Given the description of an element on the screen output the (x, y) to click on. 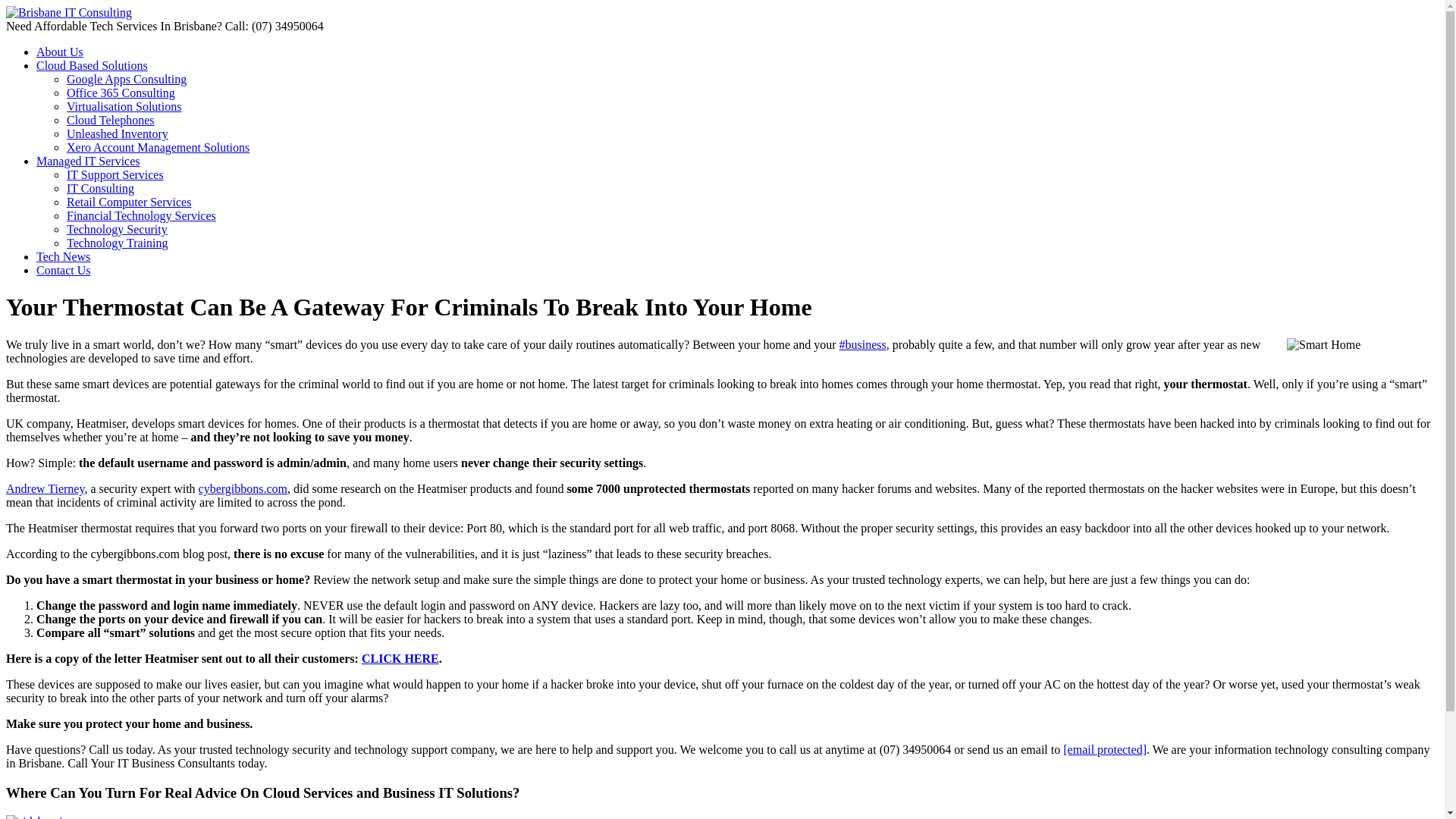
Retail Computer Services (128, 201)
Office 365 Consulting (120, 92)
Virtualisation Solutions (123, 106)
Managed IT Services (87, 160)
Technology Training (117, 242)
Contact Us (63, 269)
Xero Account Management Solutions (157, 146)
Unleashed Inventory (117, 133)
Cloud Based Solutions (92, 65)
IT Support Services (114, 174)
